Given the description of an element on the screen output the (x, y) to click on. 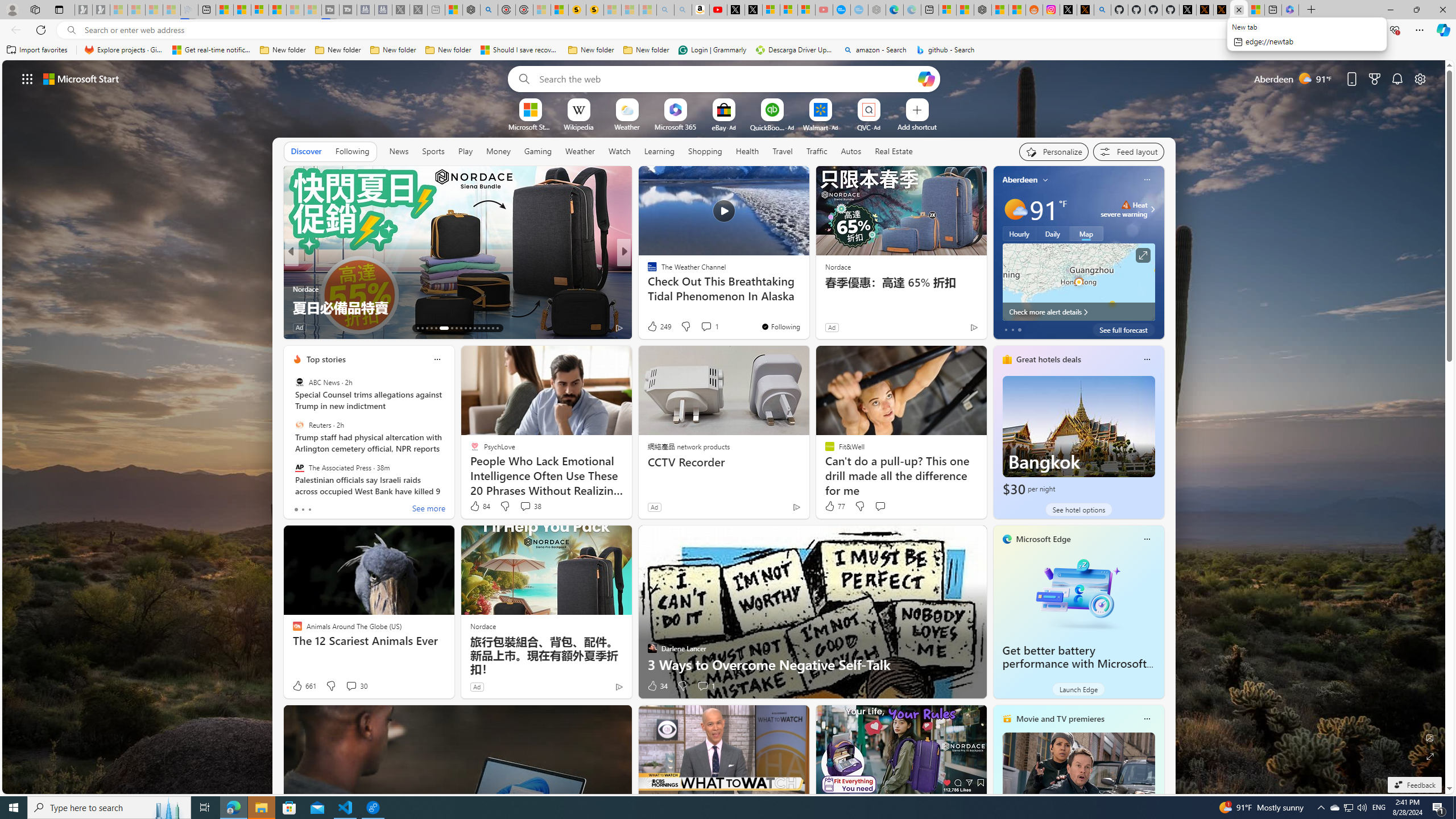
tab-1 (302, 509)
32 Like (652, 327)
Browser essentials (1394, 29)
Movie and TV premieres (1060, 718)
Profile / X (1187, 9)
Class: control (27, 78)
Close (1442, 9)
View comments 38 Comment (530, 505)
amazon - Search - Sleeping (665, 9)
Gaming (537, 151)
CCTV Recorder (723, 462)
Tab actions menu (58, 9)
Microsoft 365 (675, 126)
Travel (782, 151)
